Given the description of an element on the screen output the (x, y) to click on. 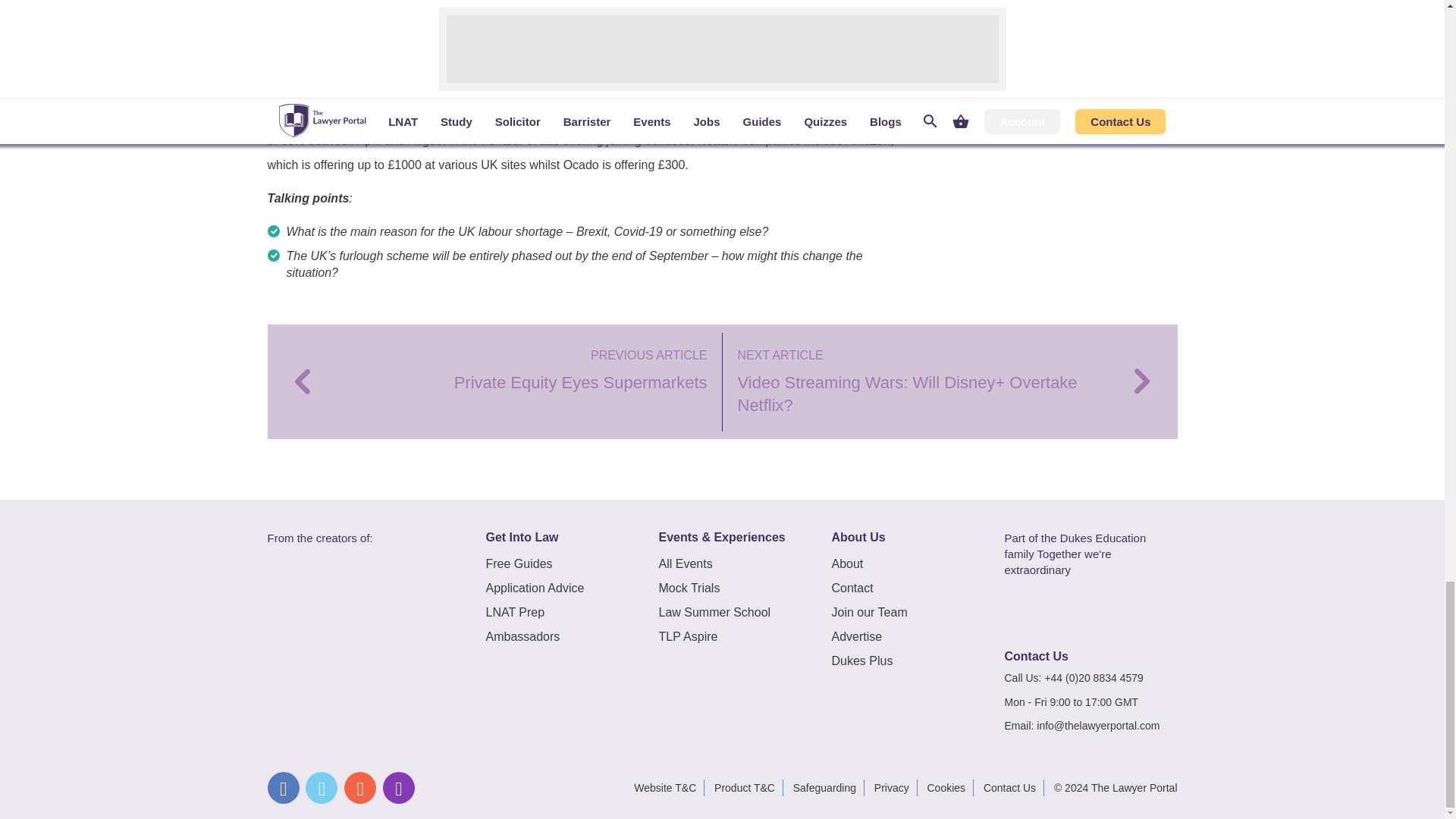
Instagram (398, 787)
YouTube (359, 787)
Facebook (282, 787)
Twitter (321, 787)
